Given the description of an element on the screen output the (x, y) to click on. 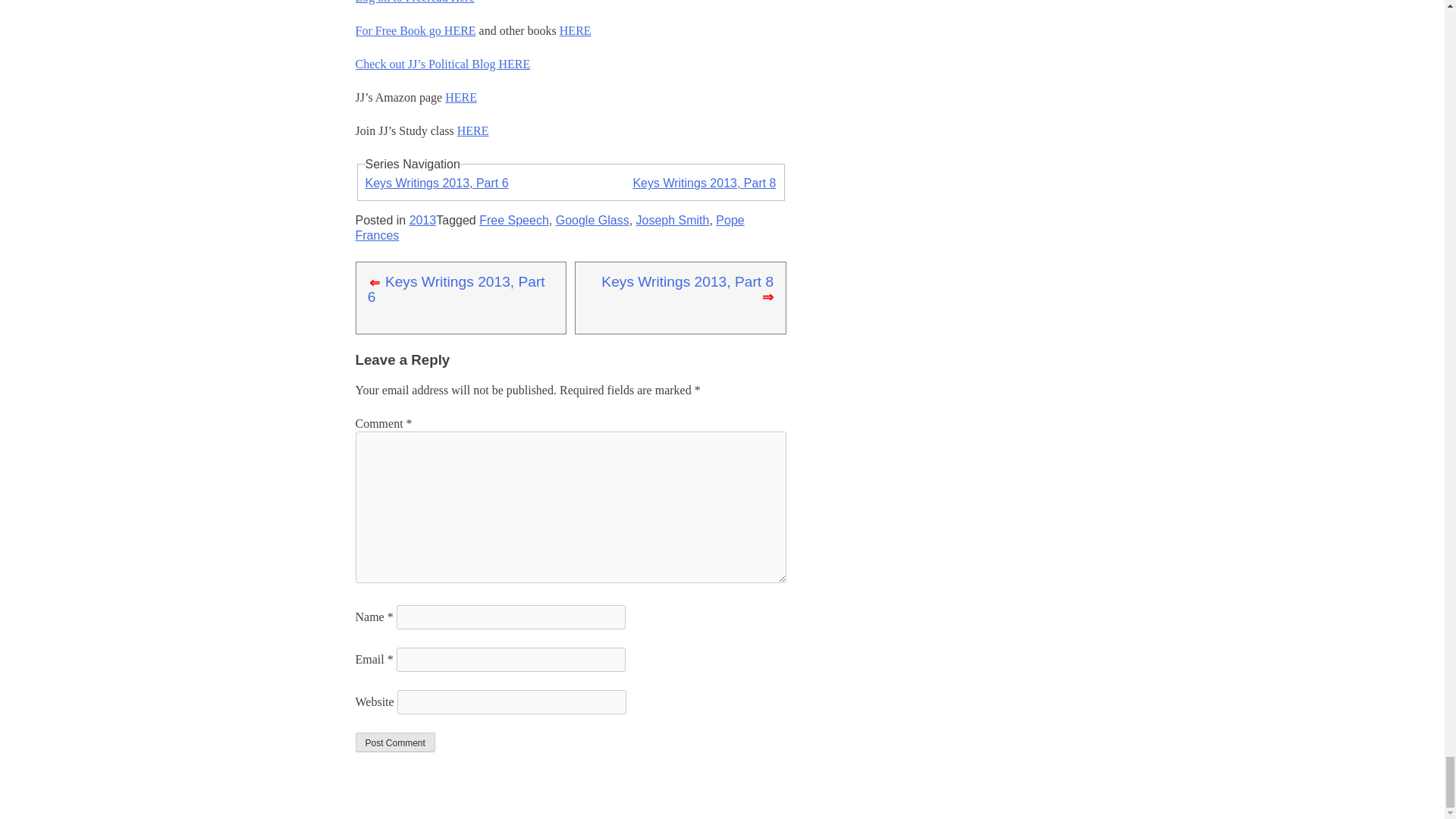
Post Comment (394, 742)
